Given the description of an element on the screen output the (x, y) to click on. 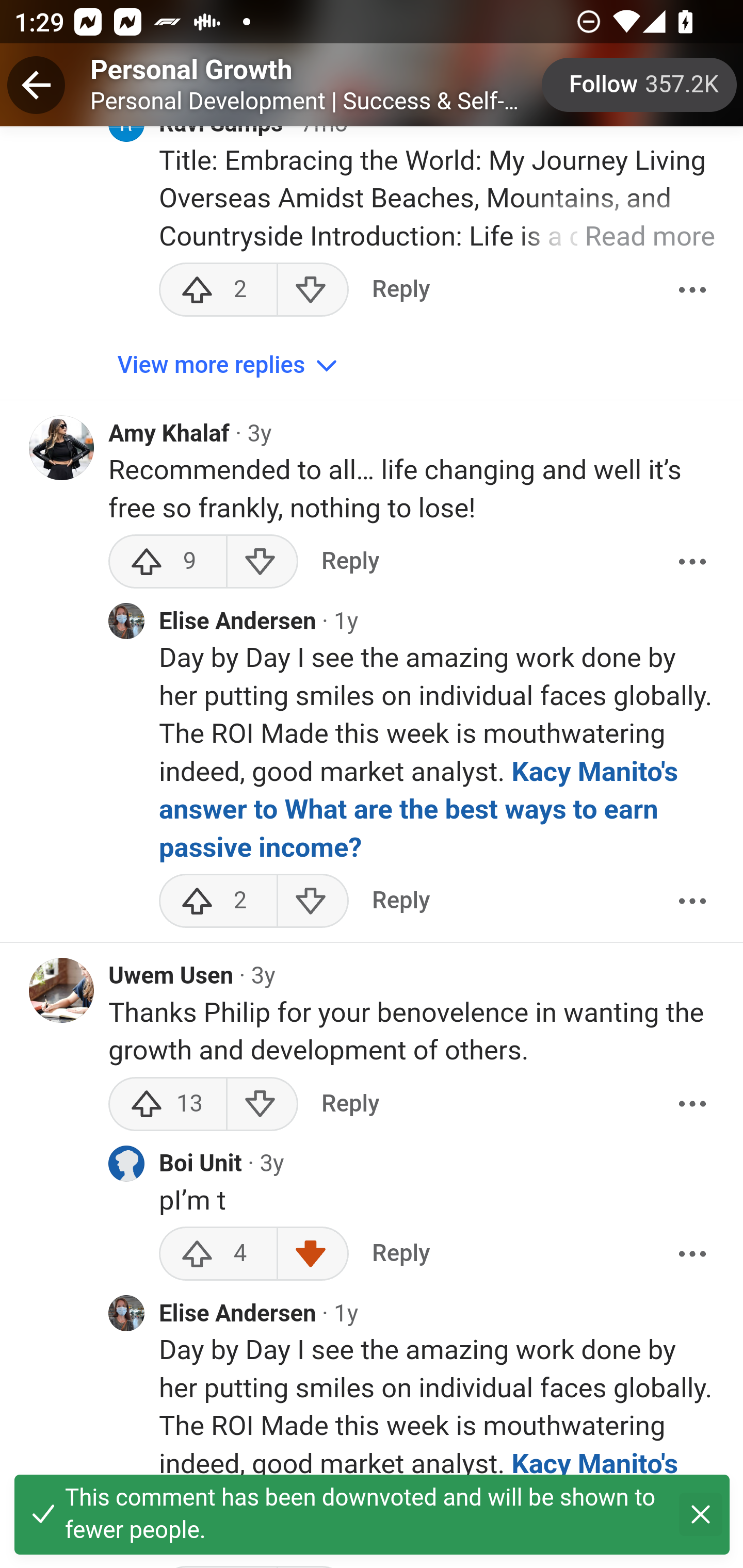
Personal Growth (191, 70)
Follow 357.2K (639, 85)
2 upvotes (218, 291)
Downvote (312, 291)
Reply (400, 291)
More (691, 291)
View more replies (230, 366)
Profile photo for Amy Khalaf (61, 448)
Amy Khalaf (169, 435)
9 upvotes (167, 561)
Downvote (261, 561)
Reply (350, 561)
More (691, 561)
Profile photo for Elise Andersen (126, 622)
Elise Andersen (238, 623)
2 upvotes (218, 901)
Downvote (312, 901)
Reply (400, 901)
More (691, 901)
Profile photo for Uwem Usen (61, 991)
Uwem Usen (171, 976)
13 upvotes (167, 1105)
Downvote (261, 1105)
Reply (350, 1105)
More (691, 1105)
Profile photo for Boi Unit (126, 1164)
Boi Unit (201, 1165)
3y 3 y (271, 1164)
4 upvotes (218, 1254)
Downvote (312, 1254)
Reply (400, 1254)
More (691, 1254)
Profile photo for Elise Andersen (126, 1315)
Elise Andersen (238, 1315)
